Given the description of an element on the screen output the (x, y) to click on. 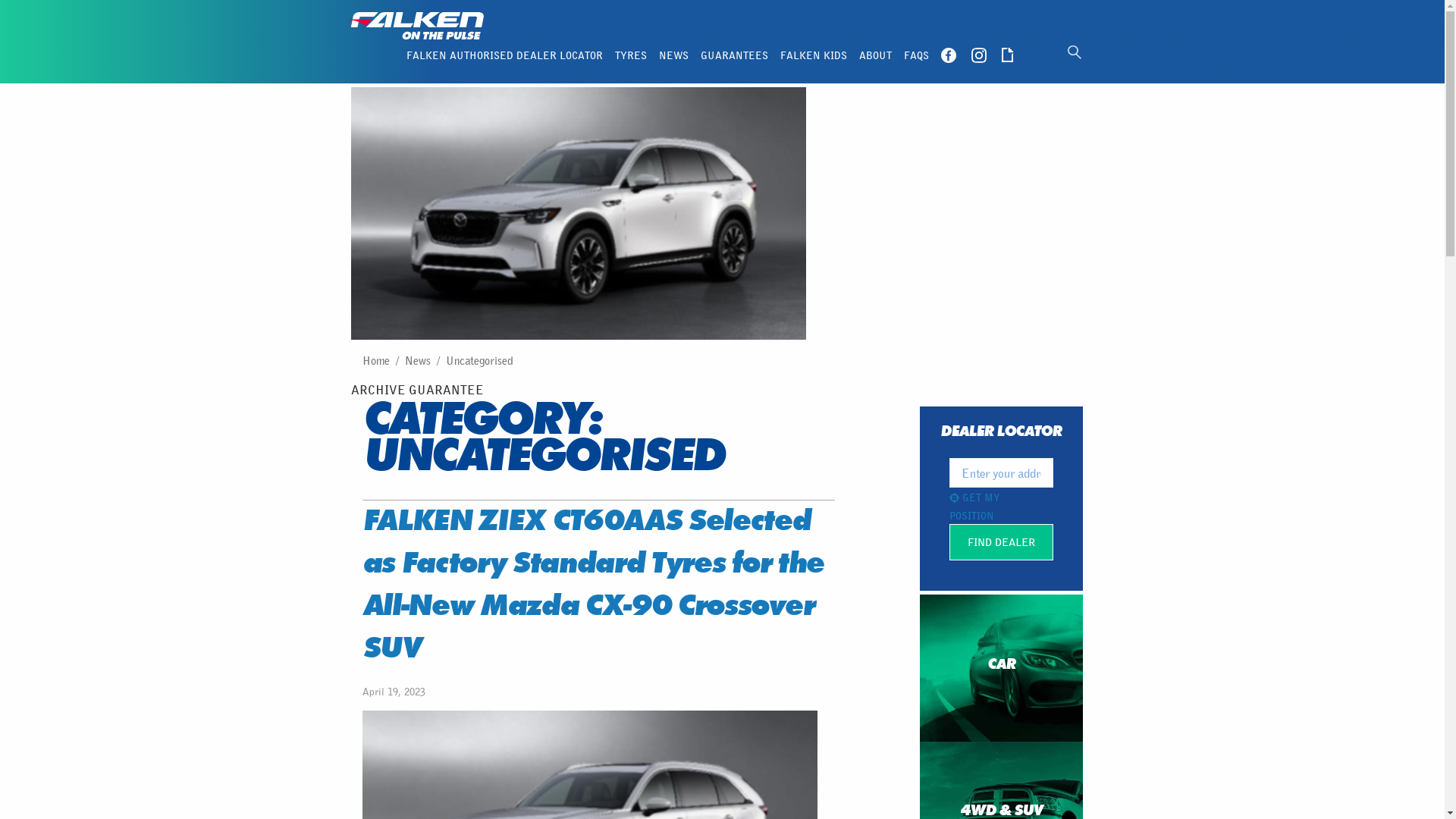
Home Element type: text (375, 360)
GET MY POSITION Element type: text (974, 506)
FALKEN KIDS Element type: text (812, 55)
NEWS Element type: text (672, 55)
Search efter: Element type: hover (1080, 52)
TYRES Element type: text (630, 55)
ABOUT Element type: text (874, 55)
Search Element type: text (23, 9)
News Element type: text (417, 360)
FAQS Element type: text (916, 55)
FALKEN AUTHORISED DEALER LOCATOR Element type: text (504, 55)
GUARANTEES Element type: text (734, 55)
FIND DEALER Element type: text (1001, 542)
